Given the description of an element on the screen output the (x, y) to click on. 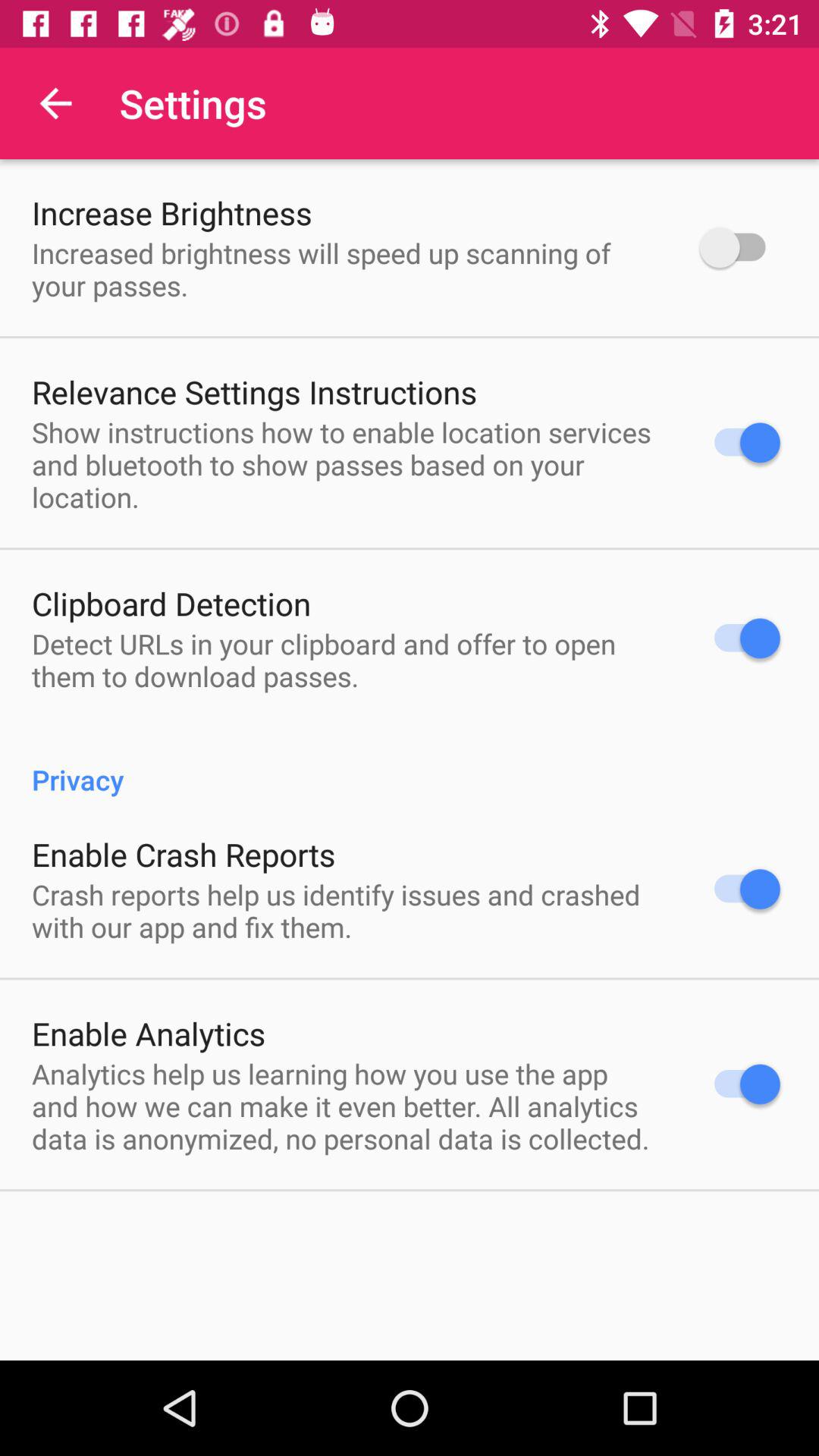
turn off item above the increase brightness item (55, 103)
